Given the description of an element on the screen output the (x, y) to click on. 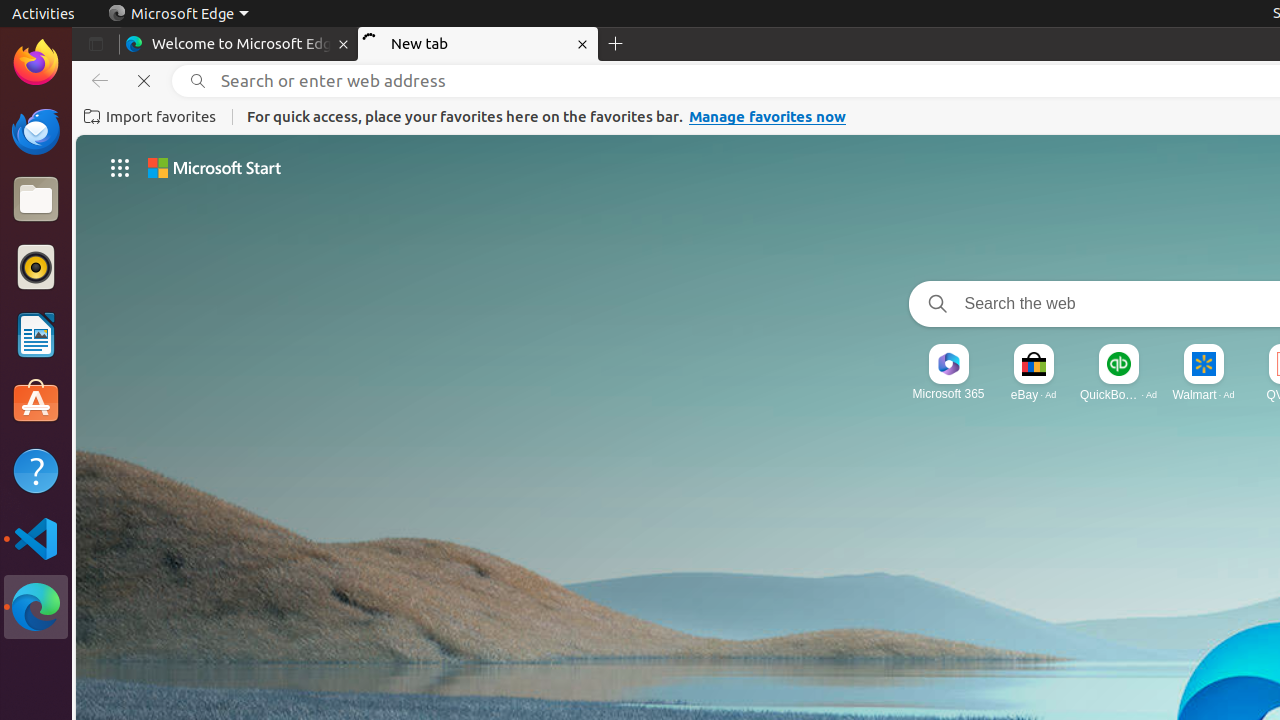
Search Element type: push-button (933, 303)
Walmart · Ad Element type: link (1203, 393)
Tab actions menu Element type: push-button (96, 44)
Ubuntu Software Element type: push-button (36, 402)
LibreOffice Writer Element type: push-button (36, 334)
